Given the description of an element on the screen output the (x, y) to click on. 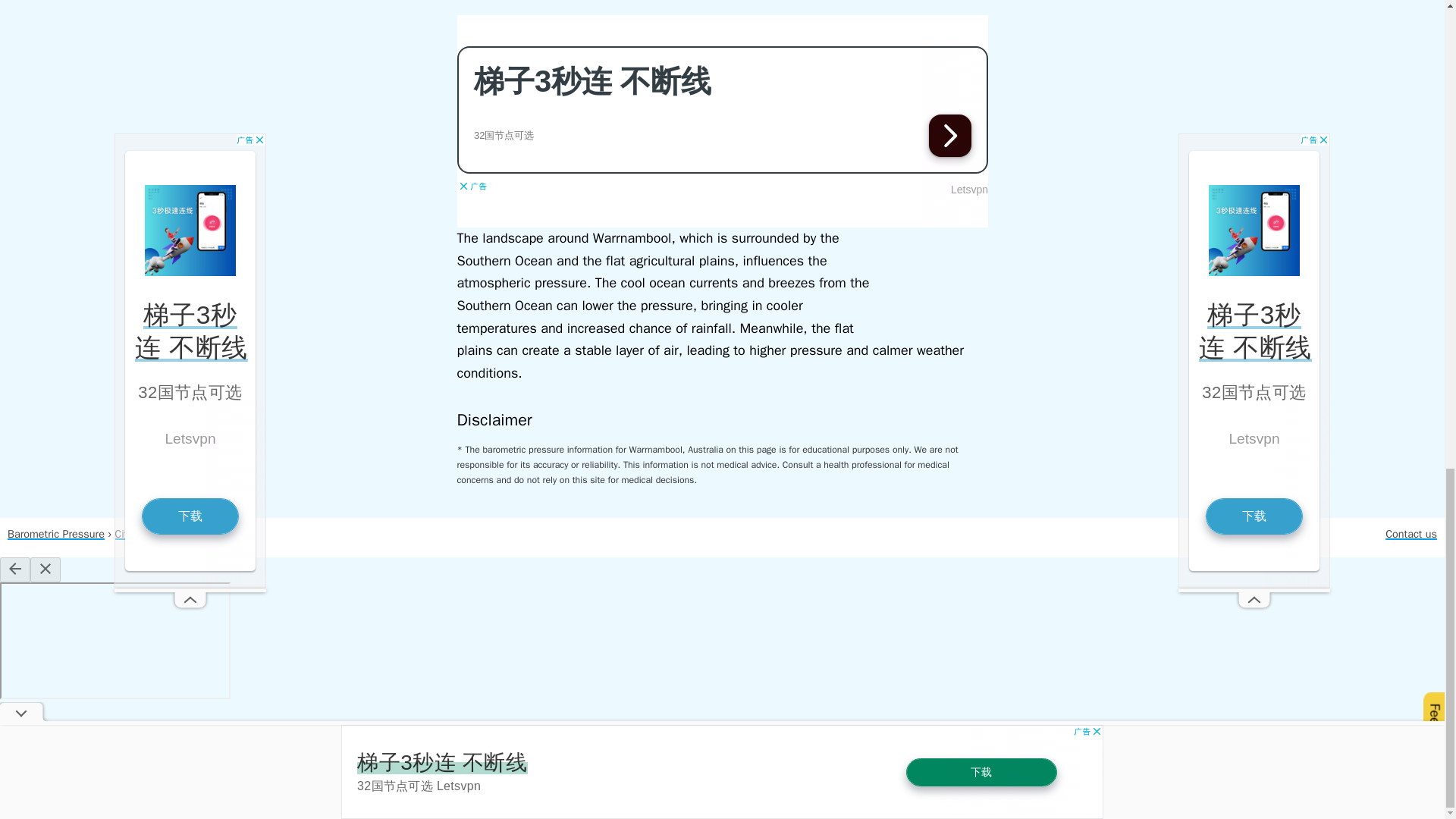
Barometric Pressure (55, 533)
Contact us (1411, 533)
Advertisement (722, 121)
Warrnambool (182, 533)
Cities (128, 533)
